Given the description of an element on the screen output the (x, y) to click on. 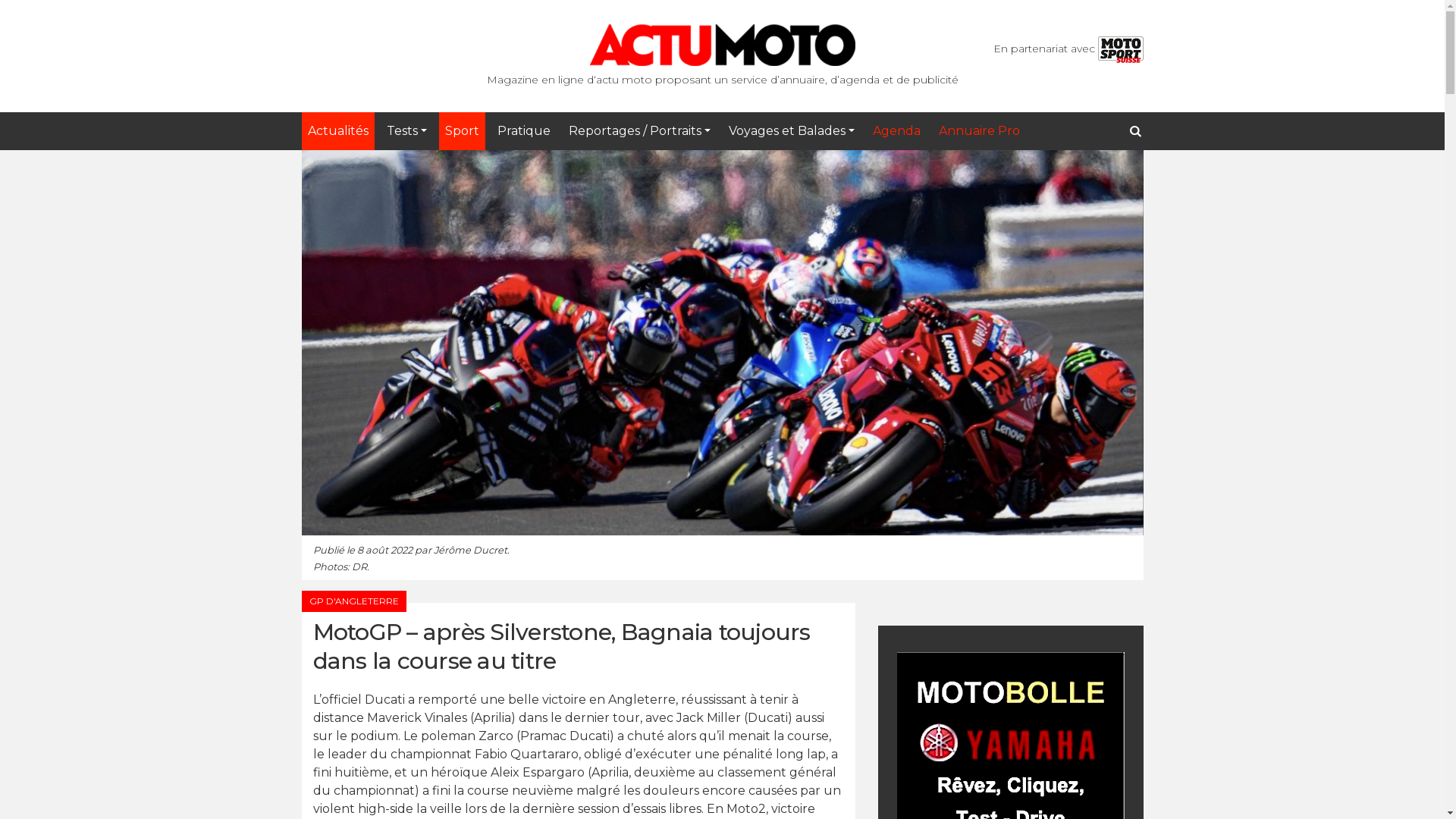
Sport Element type: text (462, 131)
Yamaha_Bolle_2022_300-250 Element type: hover (1009, 742)
Voyages et Balades Element type: text (791, 131)
Tests Element type: text (406, 131)
Reportages / Portraits Element type: text (639, 131)
Pratique Element type: text (523, 131)
Agenda Element type: text (896, 131)
Annuaire Pro Element type: text (979, 131)
